Given the description of an element on the screen output the (x, y) to click on. 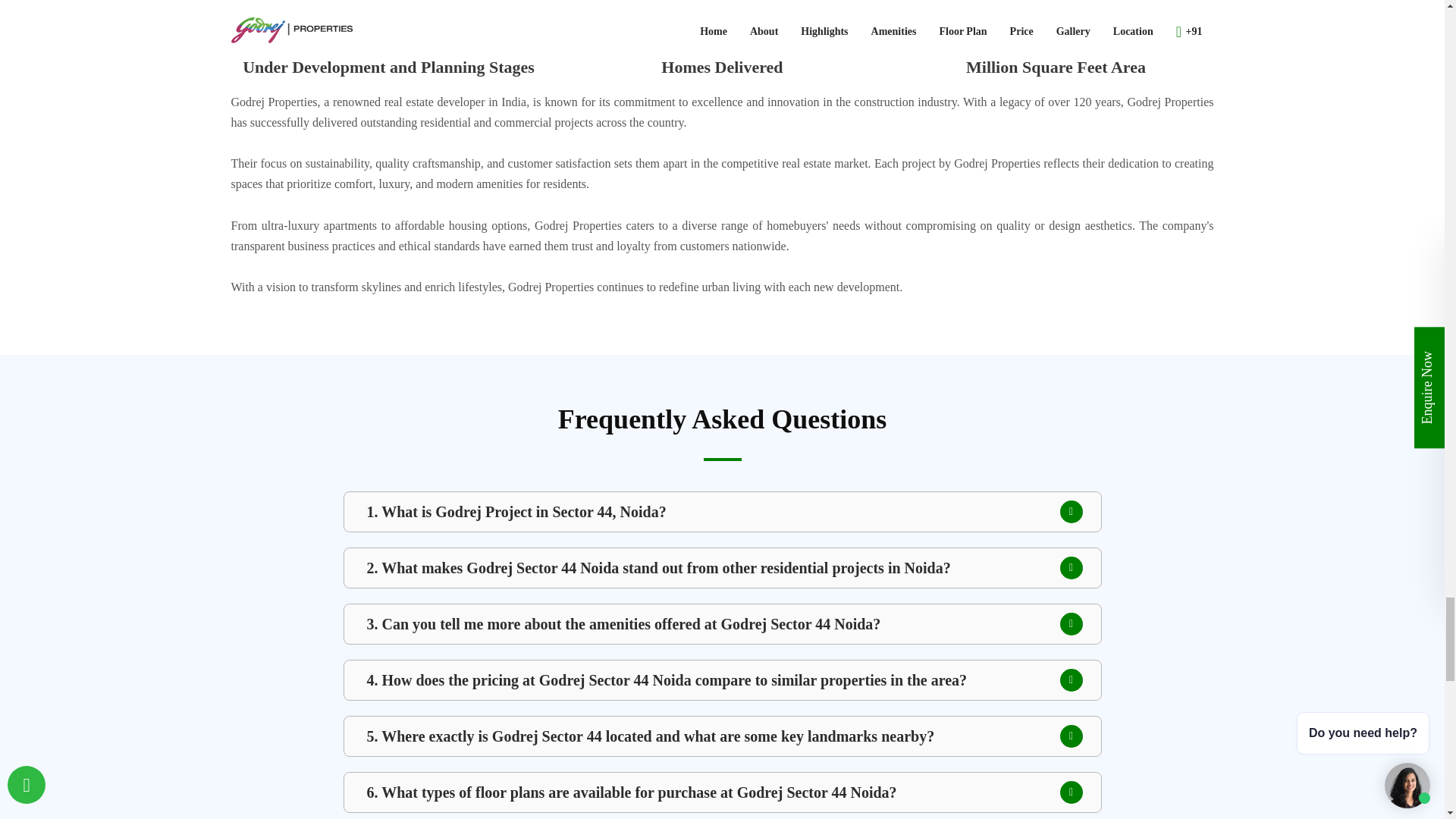
1. What is Godrej Project in Sector 44, Noida? (721, 511)
